Given the description of an element on the screen output the (x, y) to click on. 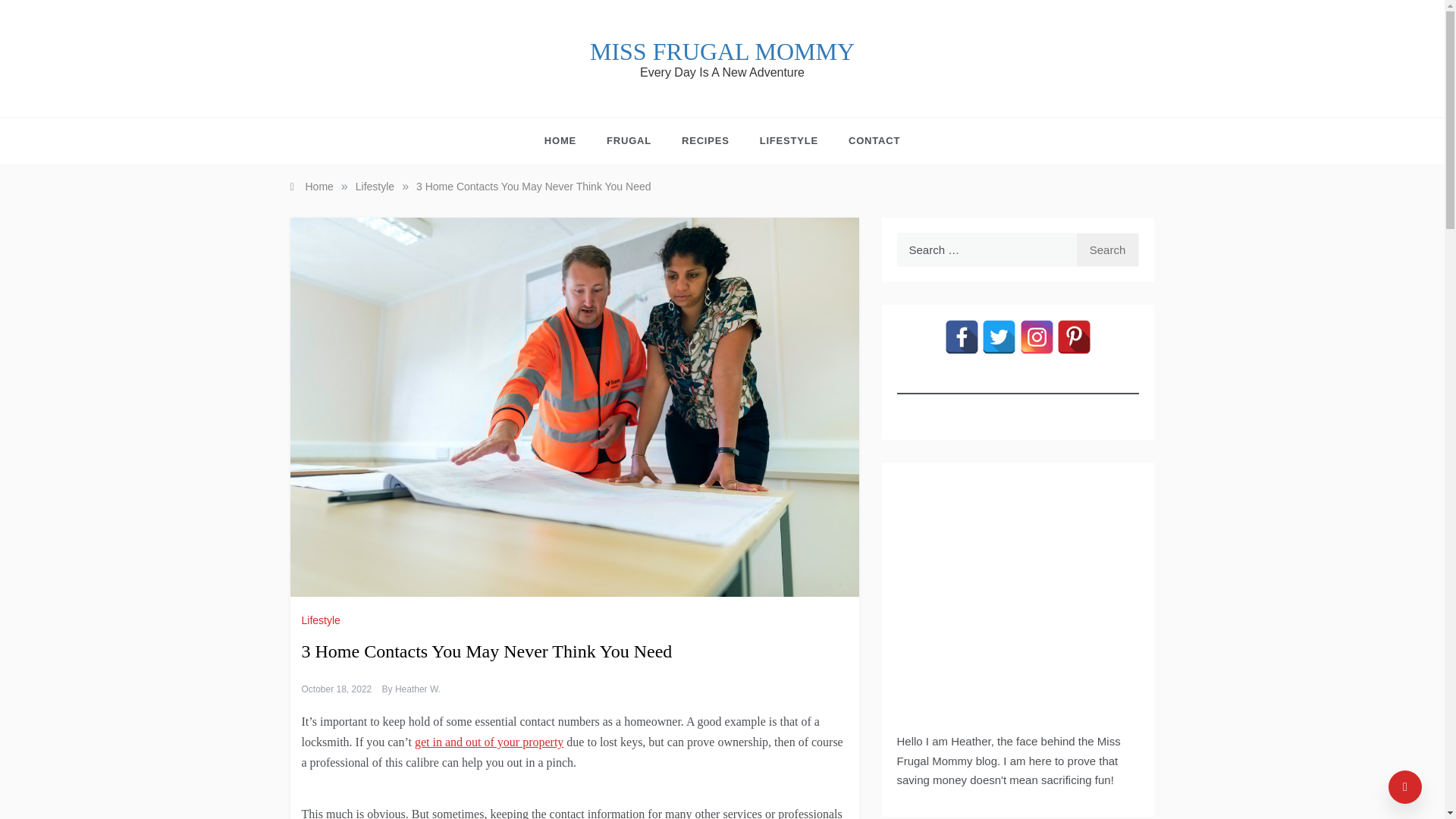
Go to Top (1405, 786)
LIFESTYLE (788, 140)
Home (311, 186)
FRUGAL (628, 140)
Lifestyle (322, 620)
get in and out of your property (488, 741)
Instagram (1037, 336)
3 Home Contacts You May Never Think You Need (533, 186)
Heather W. (417, 688)
Facebook (961, 336)
MISS FRUGAL MOMMY (721, 51)
HOME (567, 140)
Search (1107, 249)
Search (1107, 249)
Pinterest (1073, 336)
